Given the description of an element on the screen output the (x, y) to click on. 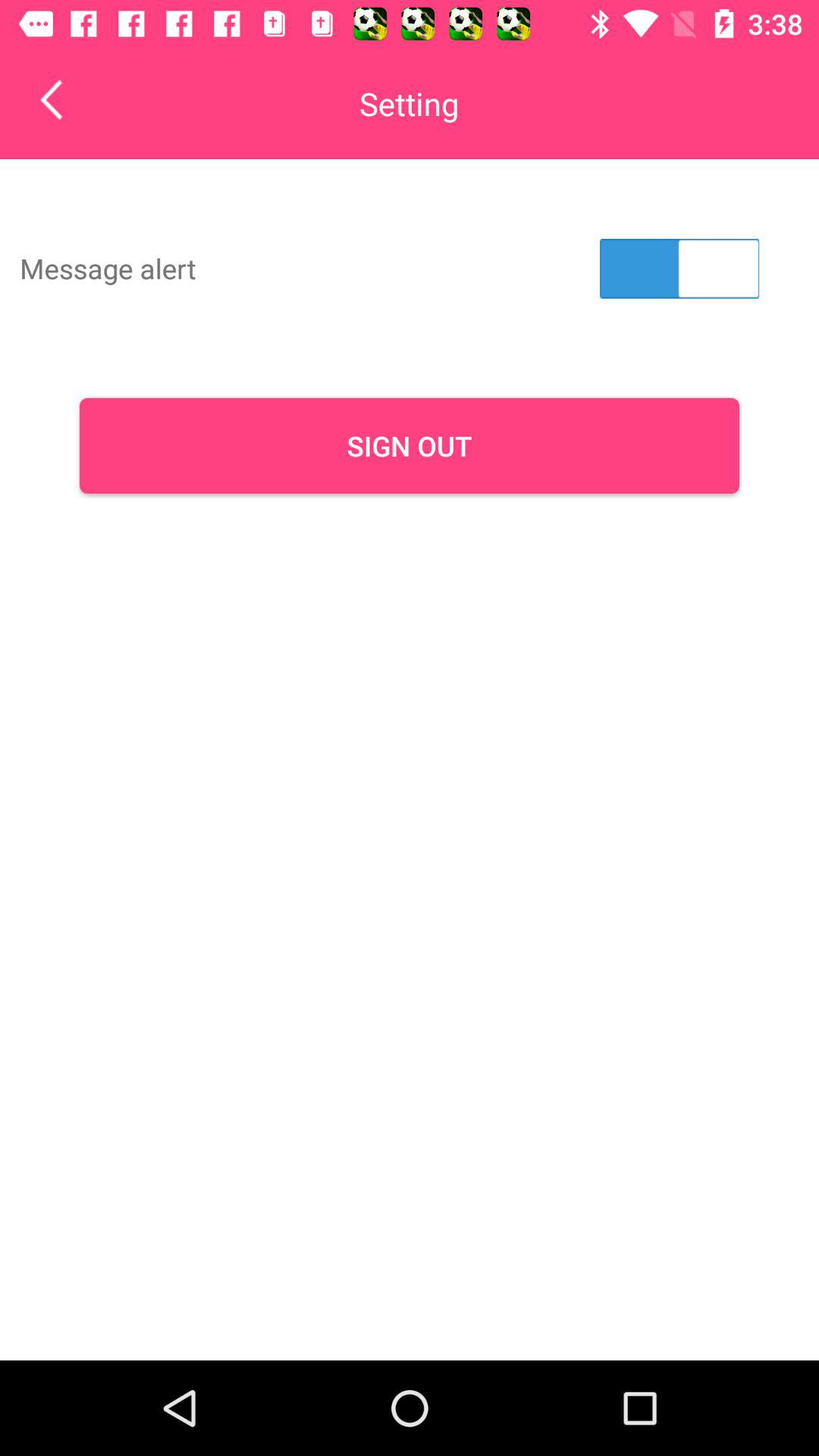
tap the item next to setting icon (62, 99)
